Given the description of an element on the screen output the (x, y) to click on. 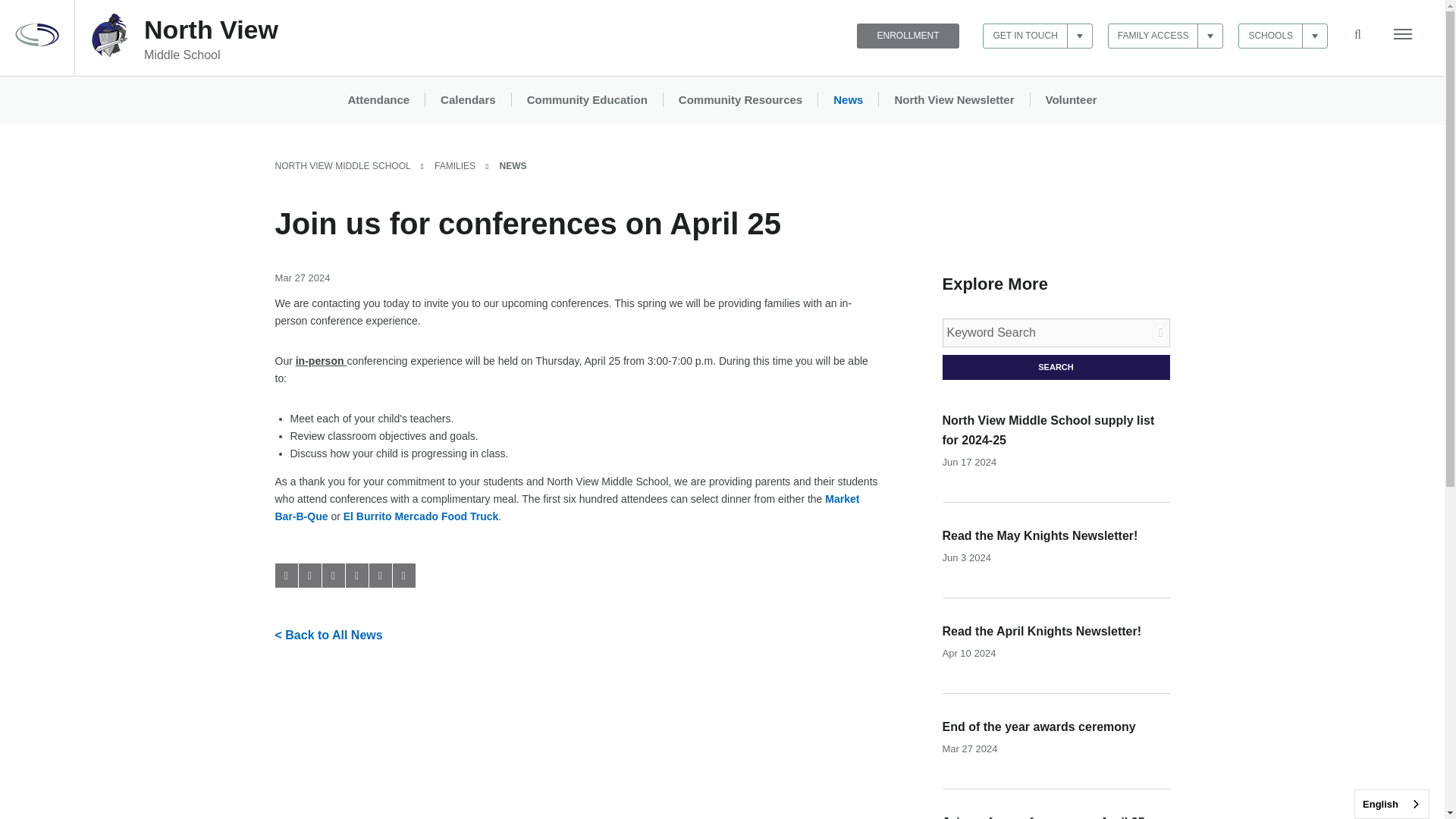
Share to Twitter (309, 575)
Calendars (467, 99)
FAMILY ACCESS (1166, 35)
ONorth View Middle School (211, 38)
Volunteer (1069, 99)
Print this page (403, 575)
ISD 279 Osseo Area Schools (36, 42)
SCHOOLS (211, 38)
Share to Facebook (1283, 35)
North View Middle School (286, 575)
Share to Pinterest (108, 52)
Community Resources (357, 575)
Share to LinkedIn (740, 99)
GET IN TOUCH (332, 575)
